Given the description of an element on the screen output the (x, y) to click on. 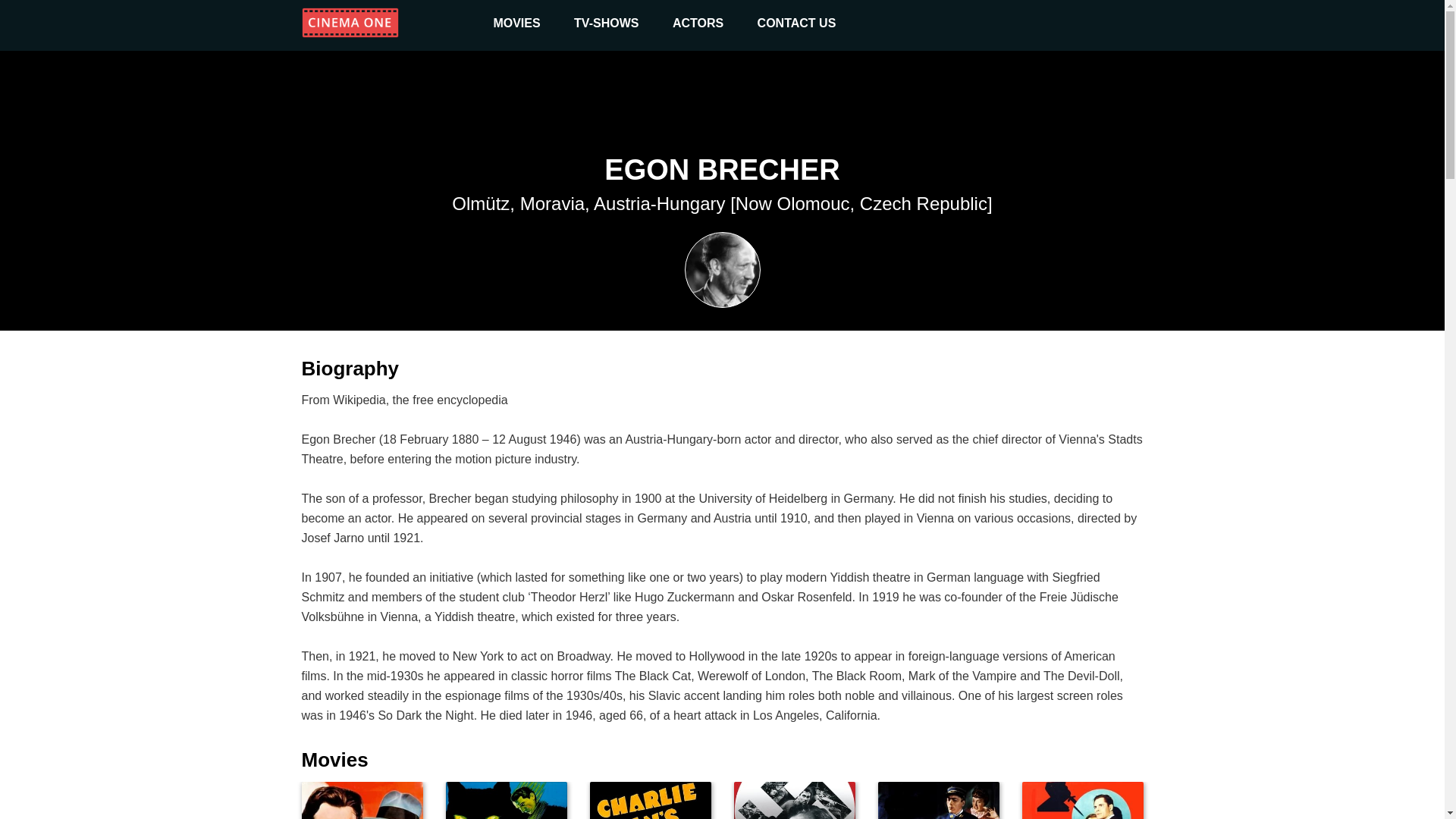
TV-SHOWS (606, 22)
CONTACT US (1082, 800)
MOVIES (650, 800)
ACTORS (506, 800)
